Given the description of an element on the screen output the (x, y) to click on. 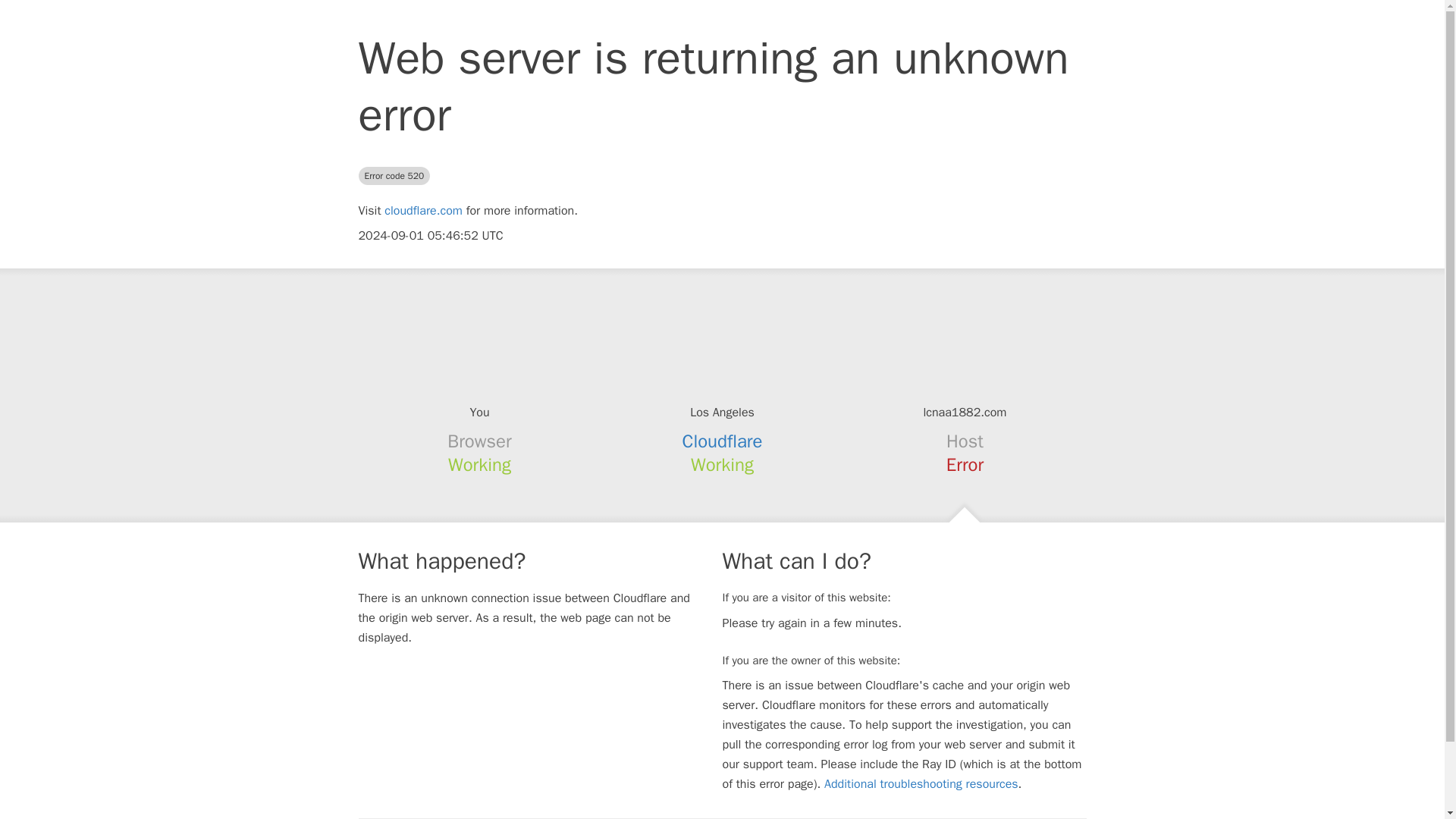
cloudflare.com (423, 210)
Additional troubleshooting resources (920, 783)
Cloudflare (722, 440)
